Given the description of an element on the screen output the (x, y) to click on. 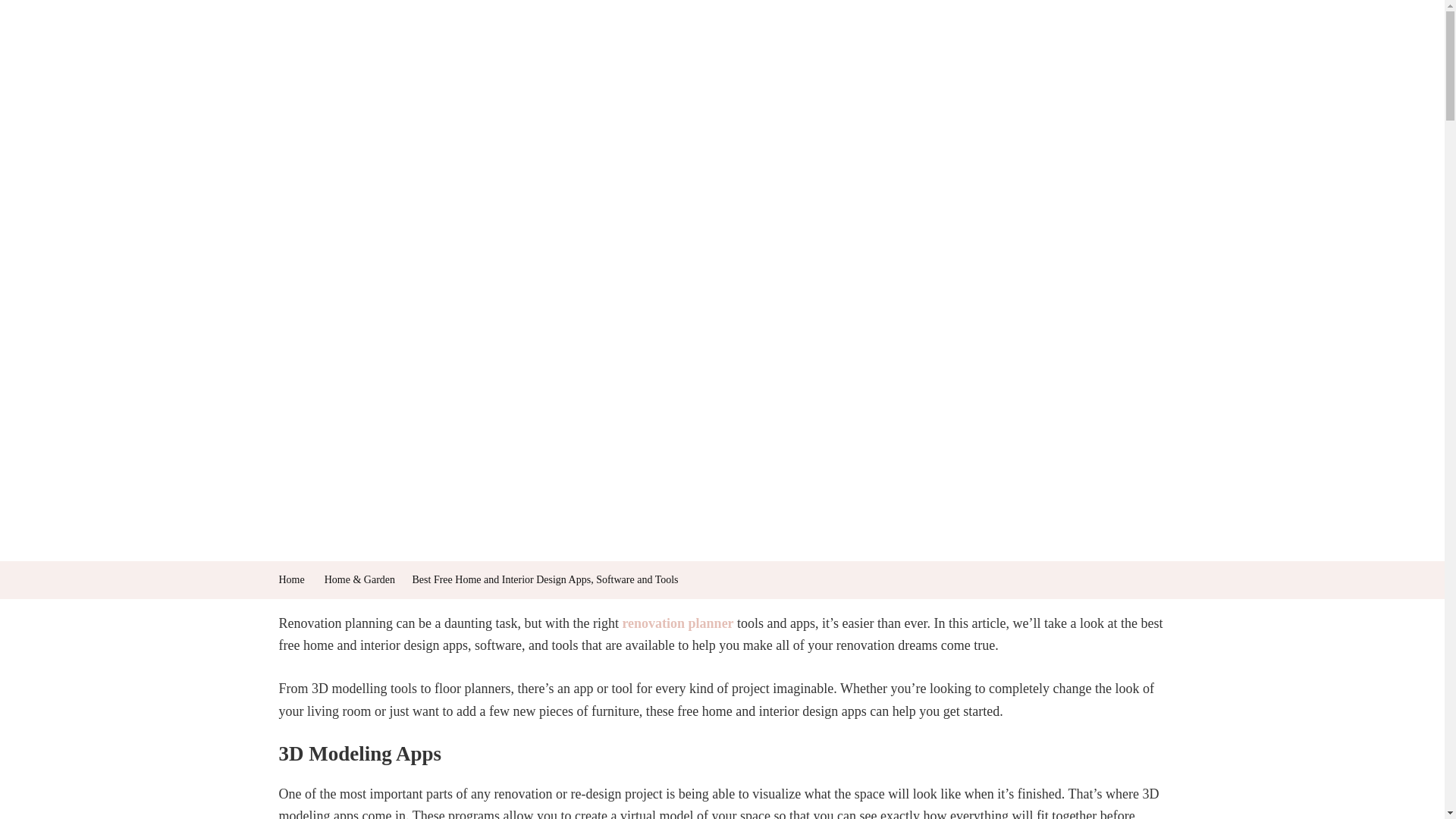
Pets (684, 49)
Home (473, 49)
Contact Me (1001, 49)
Finance (618, 49)
renovation planner (677, 622)
Lifestyle Design by Sully (541, 33)
Best Free Home and Interior Design Apps, Software and Tools (545, 579)
Wellness (540, 49)
Lifestyle (920, 49)
Home (291, 579)
Travel (851, 49)
Search (37, 48)
